Given the description of an element on the screen output the (x, y) to click on. 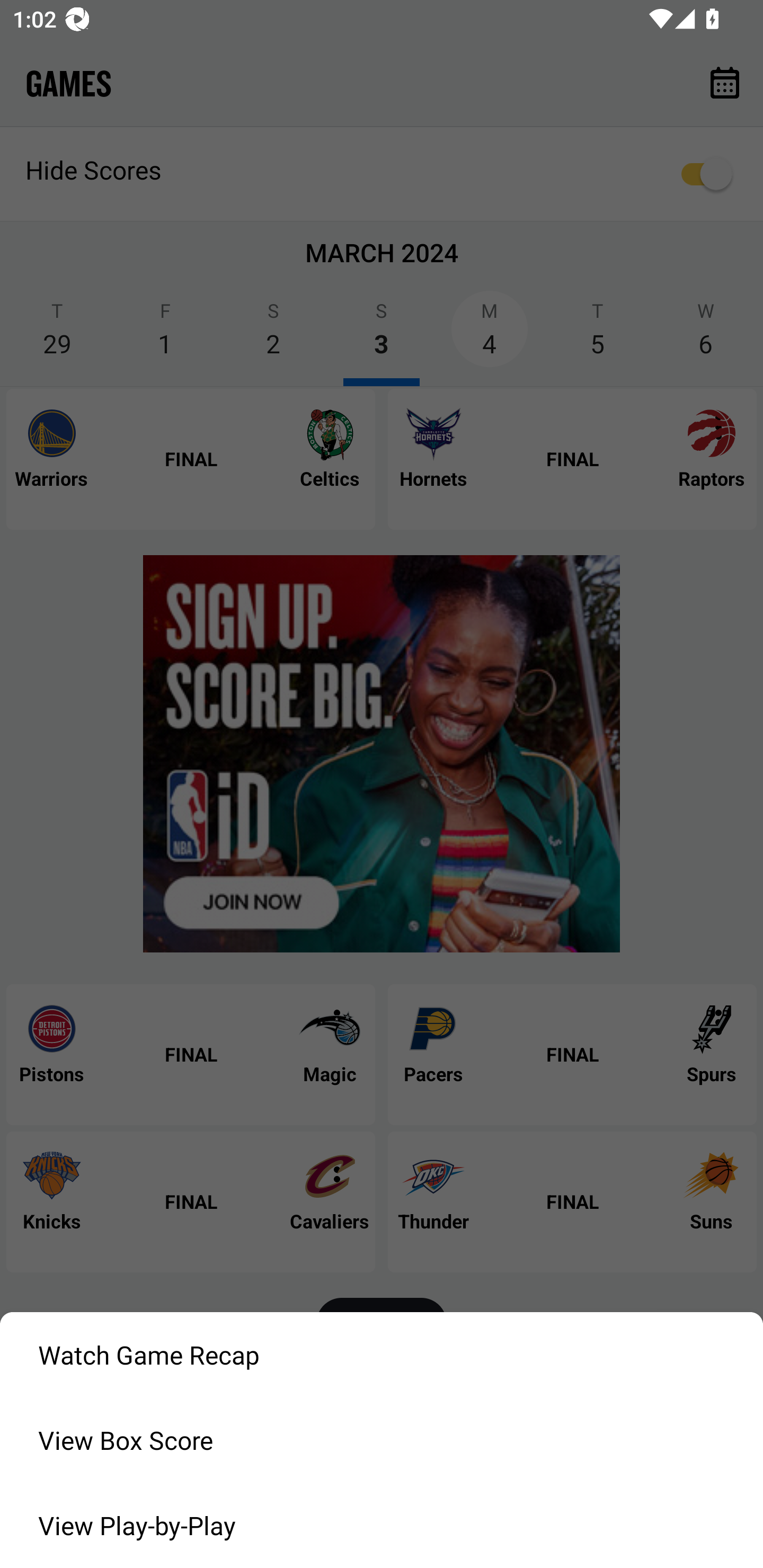
Watch Game Recap (381, 1354)
View Box Score (381, 1440)
View Play-by-Play (381, 1525)
